Given the description of an element on the screen output the (x, y) to click on. 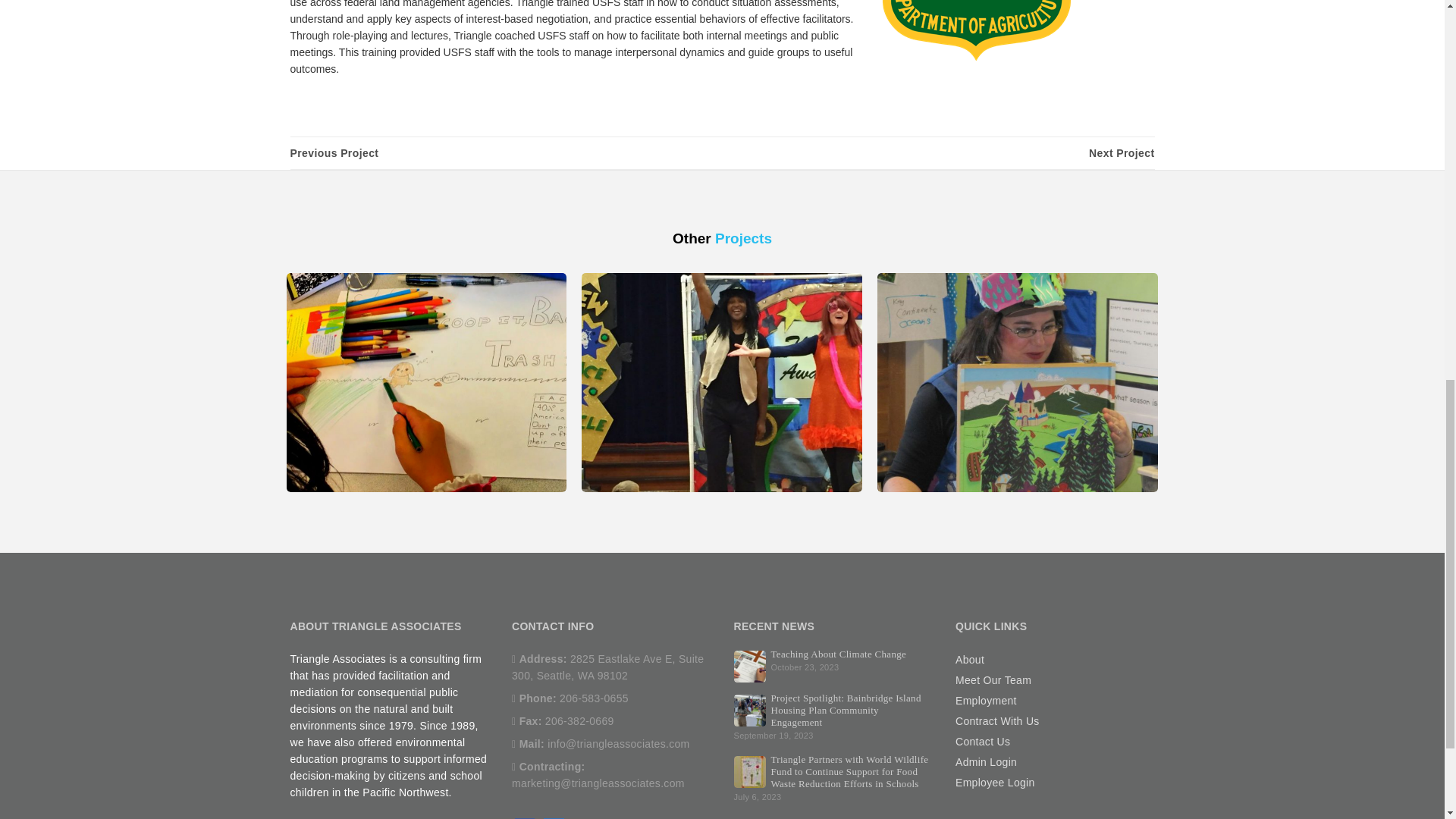
Kitsap Regional Coordinating Council (333, 152)
Teaching About Climate Change (749, 664)
Teaching About Climate Change (837, 654)
